Given the description of an element on the screen output the (x, y) to click on. 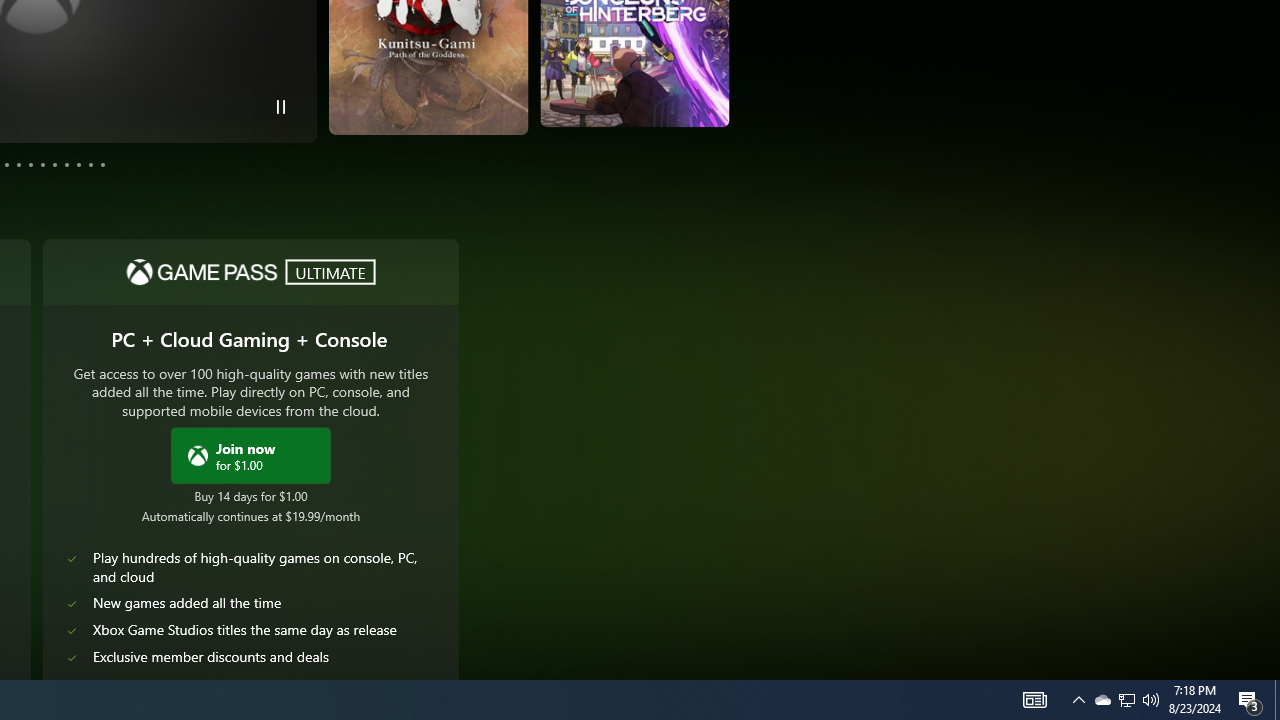
Kunitsu-Gami: Path of the Goddess (302, 83)
